Given the description of an element on the screen output the (x, y) to click on. 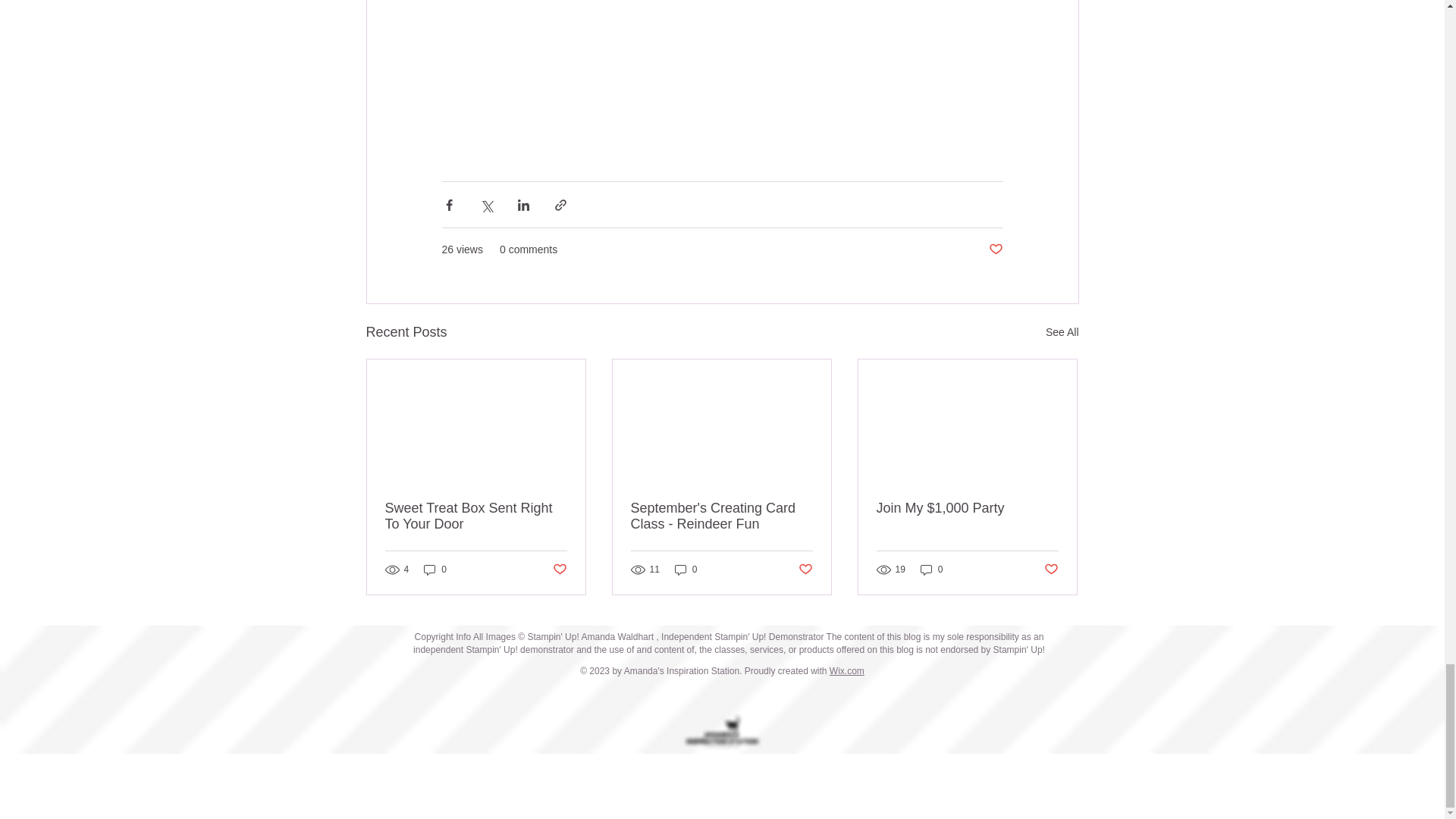
0 (931, 569)
Post not marked as liked (804, 569)
Wix.com (846, 670)
Sweet Treat Box Sent Right To Your Door (476, 516)
Post not marked as liked (558, 569)
Post not marked as liked (995, 249)
September's Creating Card Class - Reindeer Fun (721, 516)
Post not marked as liked (1050, 569)
See All (1061, 332)
0 (685, 569)
